Given the description of an element on the screen output the (x, y) to click on. 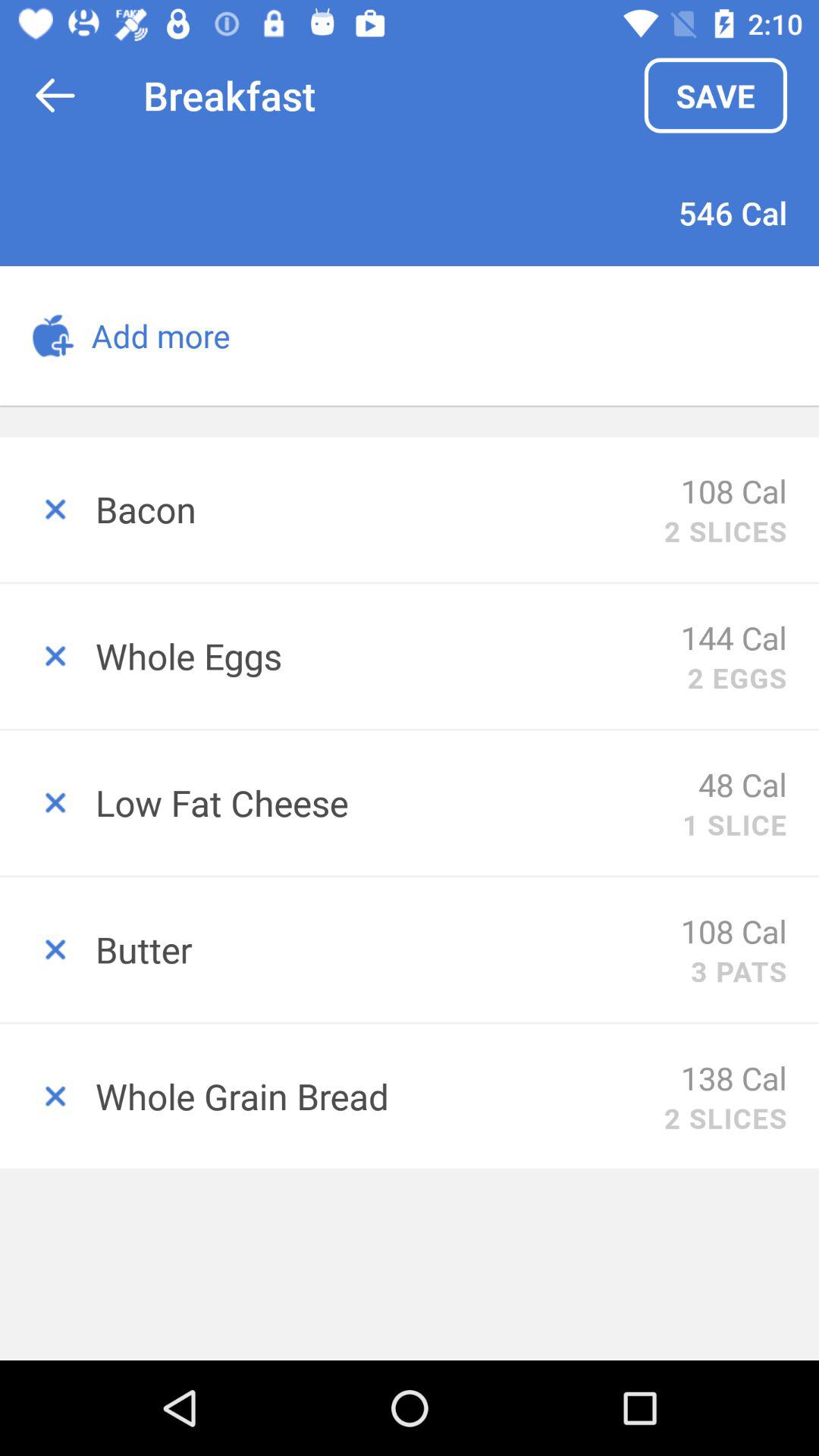
remove item (47, 802)
